Given the description of an element on the screen output the (x, y) to click on. 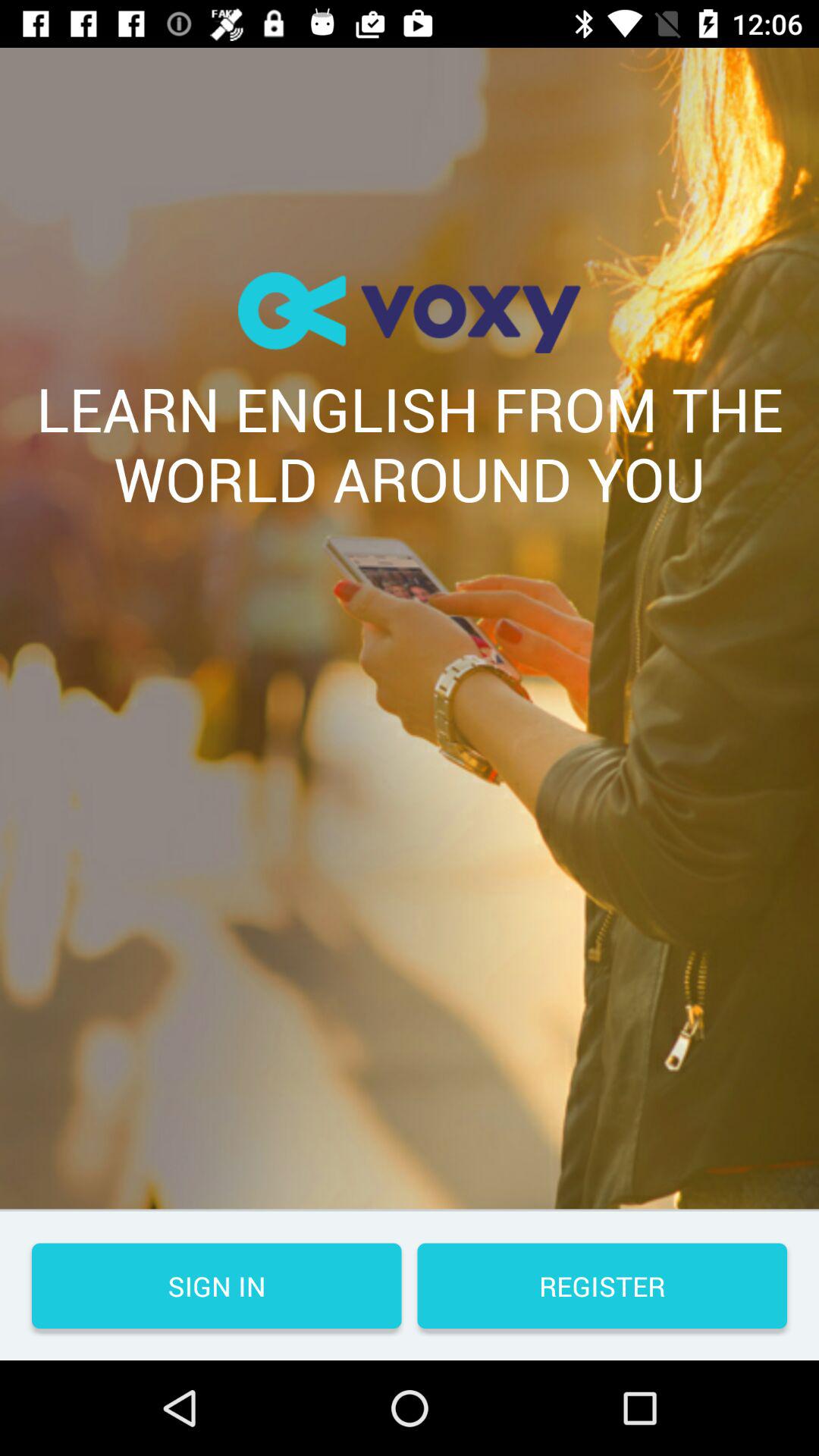
click the button to the right of the sign in (602, 1285)
